Given the description of an element on the screen output the (x, y) to click on. 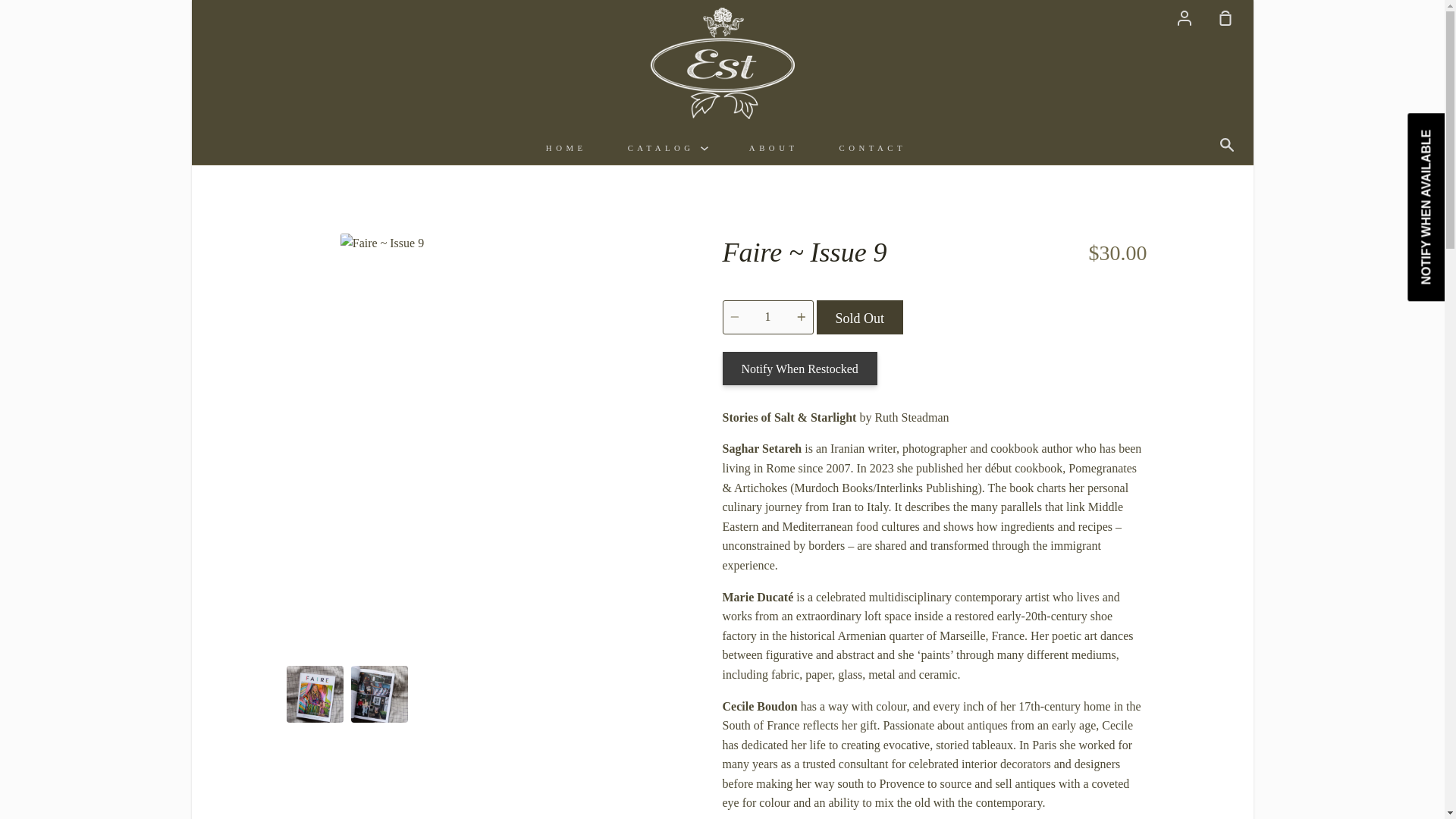
1 (767, 317)
CATALOG (667, 147)
ABOUT (773, 147)
HOME (566, 147)
CONTACT (873, 147)
